Given the description of an element on the screen output the (x, y) to click on. 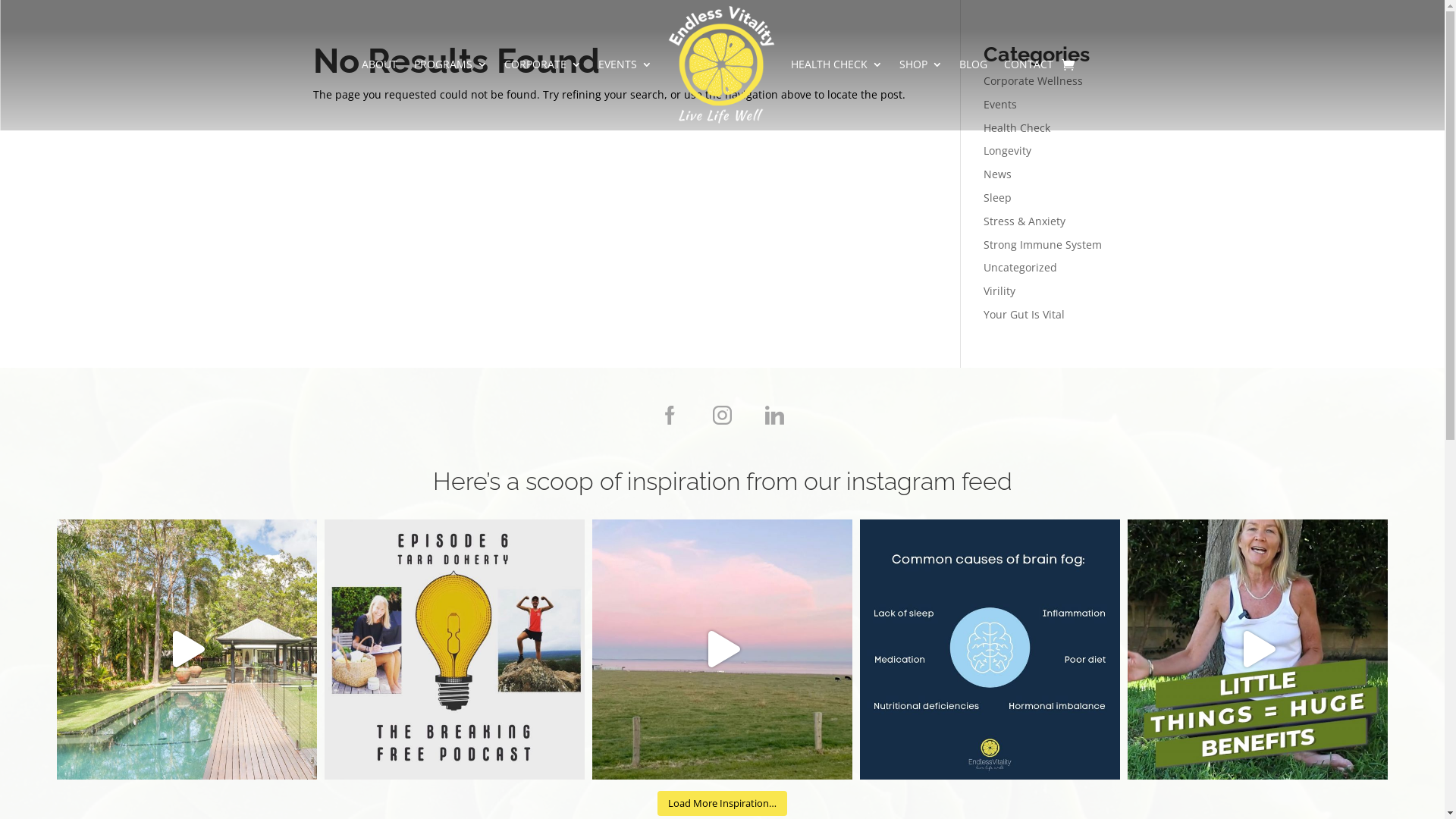
Virility Element type: text (999, 290)
Your Gut Is Vital Element type: text (1023, 314)
News Element type: text (997, 173)
Sleep Element type: text (997, 197)
ABOUT Element type: text (379, 64)
Events Element type: text (999, 104)
PROGRAMS Element type: text (450, 64)
Health Check Element type: text (1016, 127)
BLOG Element type: text (973, 64)
CORPORATE Element type: text (542, 64)
Stress & Anxiety Element type: text (1024, 220)
EVENTS Element type: text (625, 64)
SHOP Element type: text (920, 64)
Strong Immune System Element type: text (1042, 244)
HEALTH CHECK Element type: text (836, 64)
Longevity Element type: text (1007, 150)
Corporate Wellness Element type: text (1032, 80)
Uncategorized Element type: text (1020, 267)
CONTACT Element type: text (1028, 64)
